Given the description of an element on the screen output the (x, y) to click on. 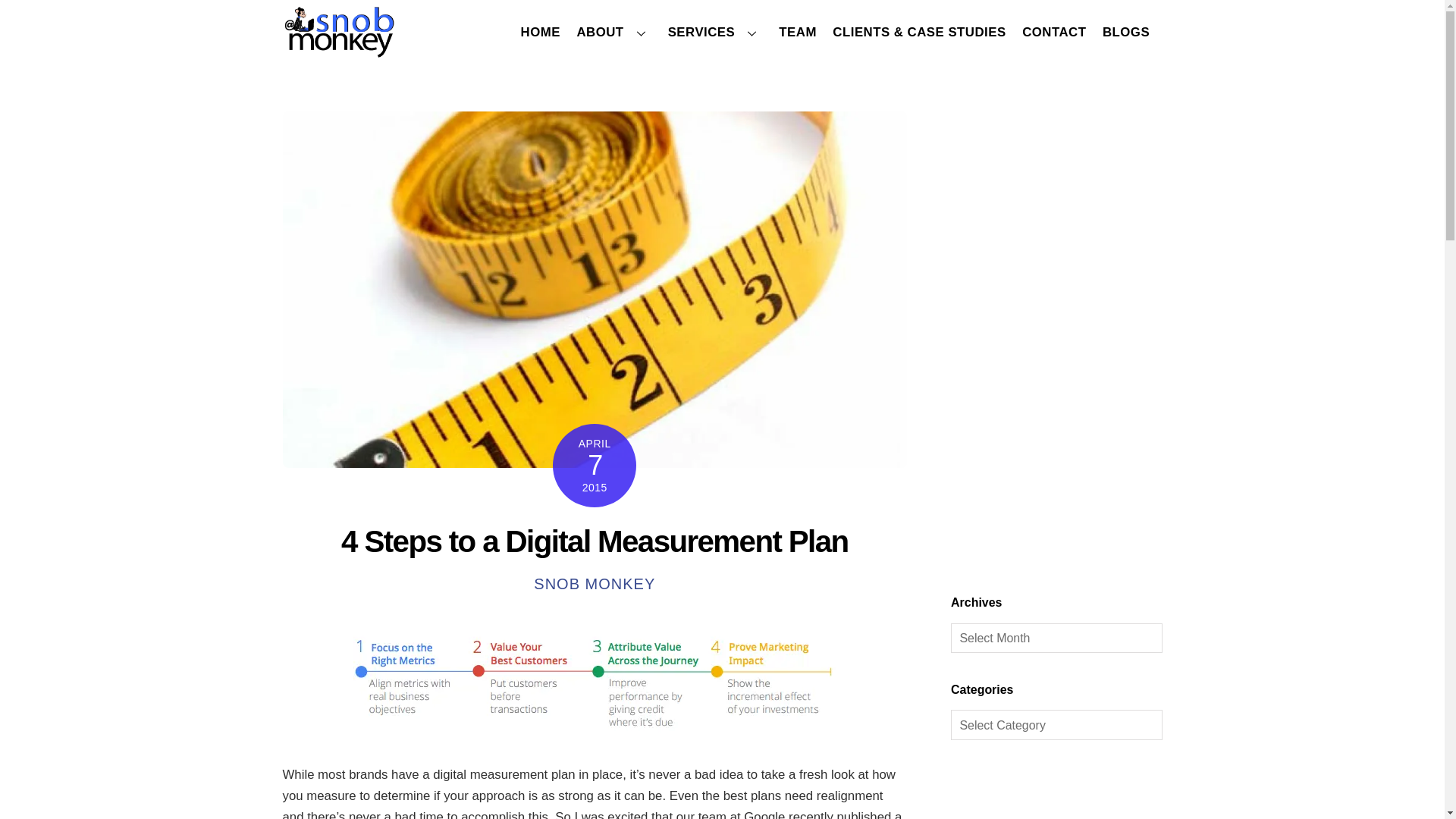
TEAM (797, 32)
BLOGS (1126, 32)
Advertisement (1055, 794)
CONTACT (1054, 32)
SERVICES (714, 32)
HOME (539, 32)
SNOB MONKEY (594, 583)
4 Steps to a Digital Measurement Plan (593, 541)
ABOUT (614, 32)
